Given the description of an element on the screen output the (x, y) to click on. 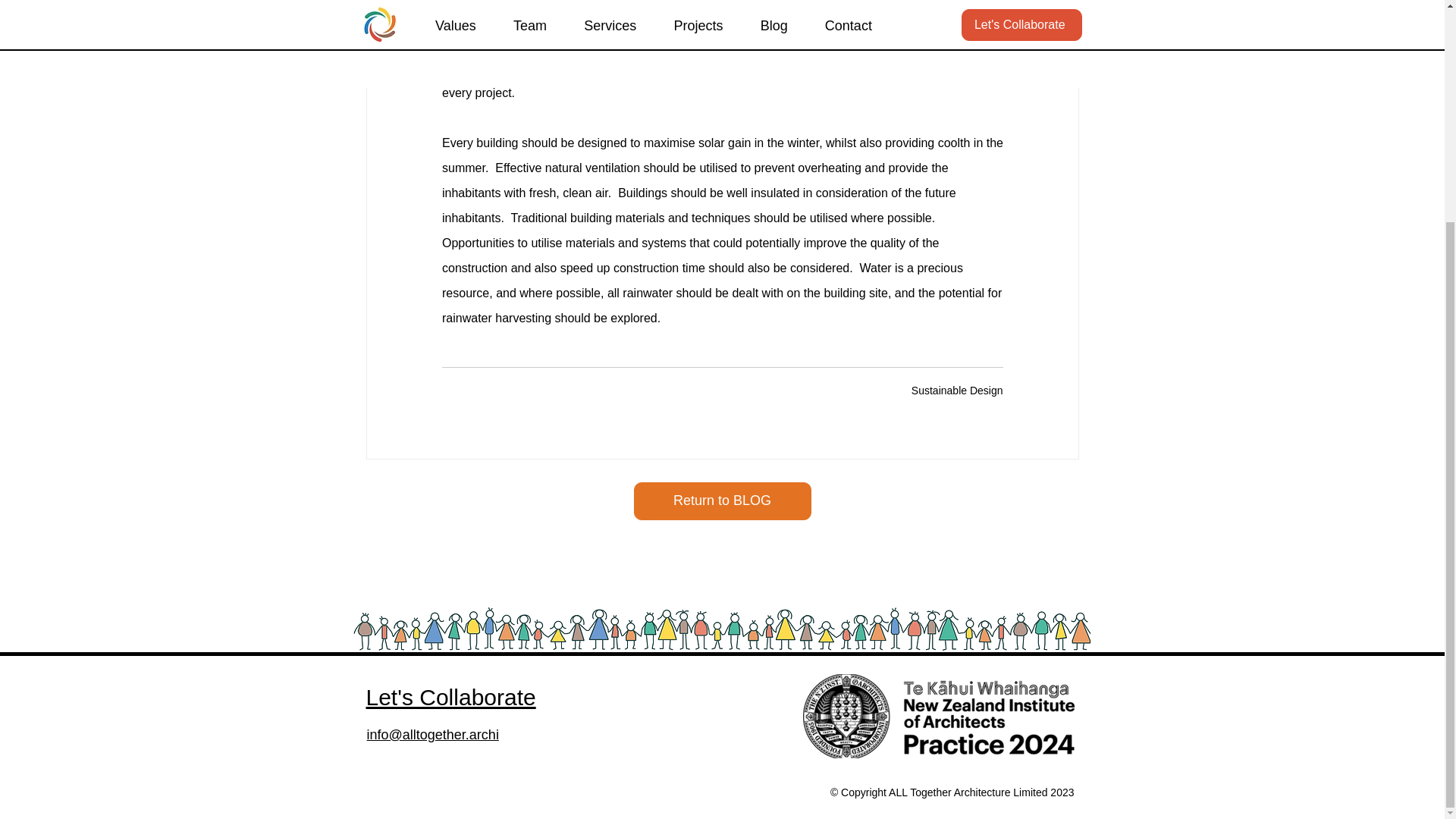
Sustainable Design (957, 389)
Let's Collaborate (450, 697)
Return to BLOG (721, 501)
